Given the description of an element on the screen output the (x, y) to click on. 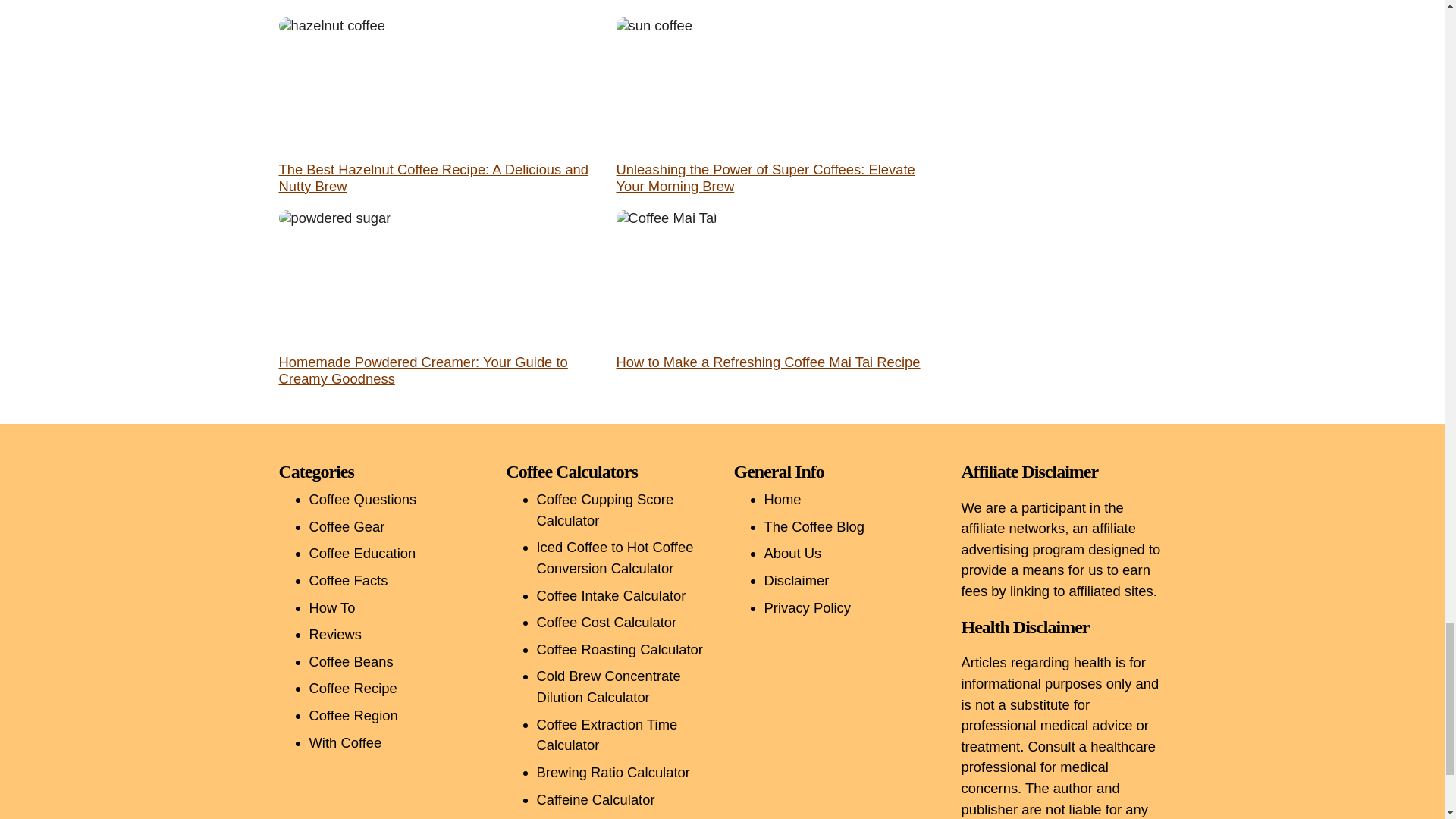
Homemade Powdered Creamer: Your Guide to Creamy Goodness (423, 369)
How to Make a Refreshing Coffee Mai Tai Recipe (767, 361)
The Best Hazelnut Coffee Recipe: A Delicious and Nutty Brew (434, 177)
